Given the description of an element on the screen output the (x, y) to click on. 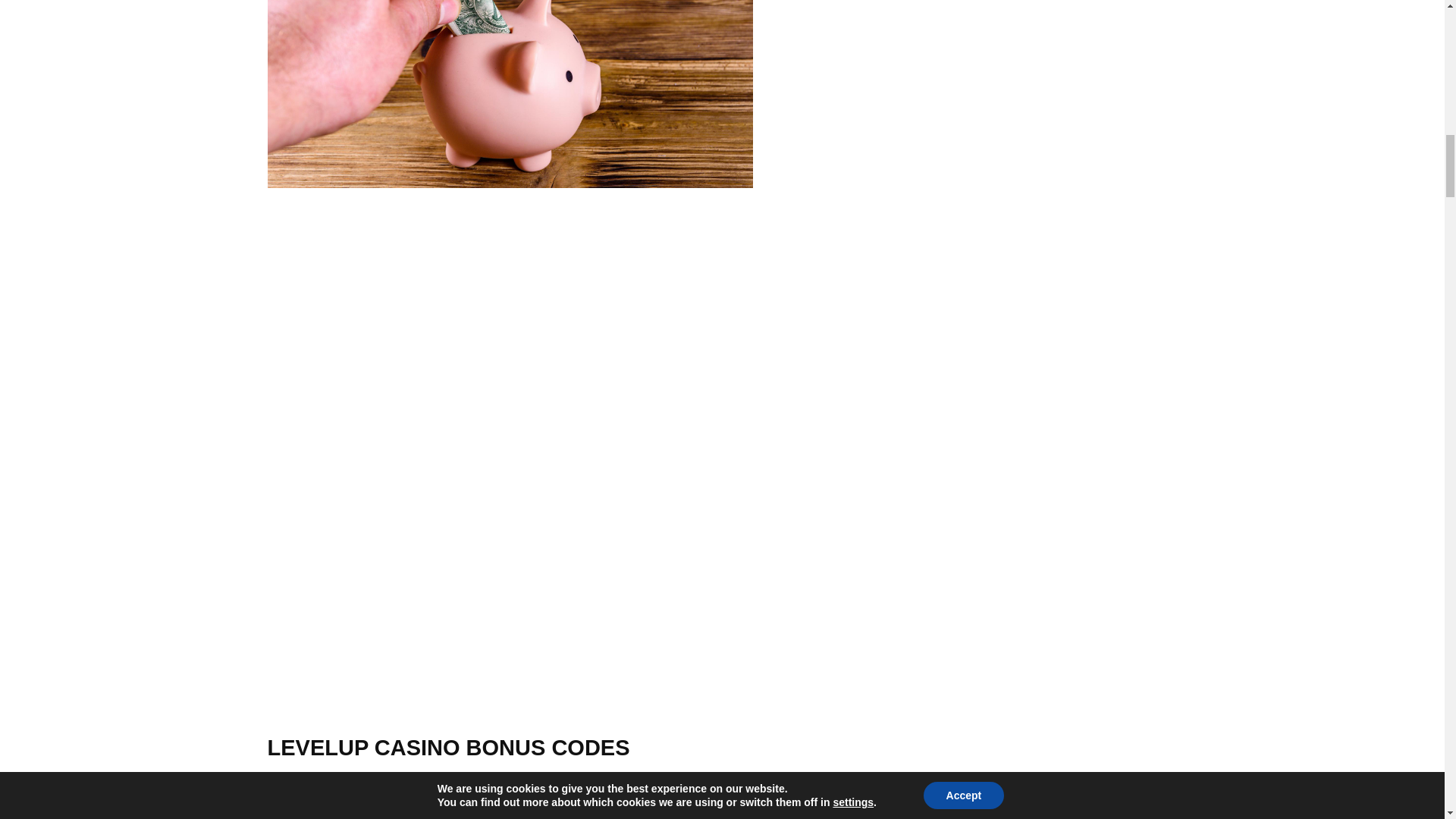
casino And Other Products (509, 94)
